Given the description of an element on the screen output the (x, y) to click on. 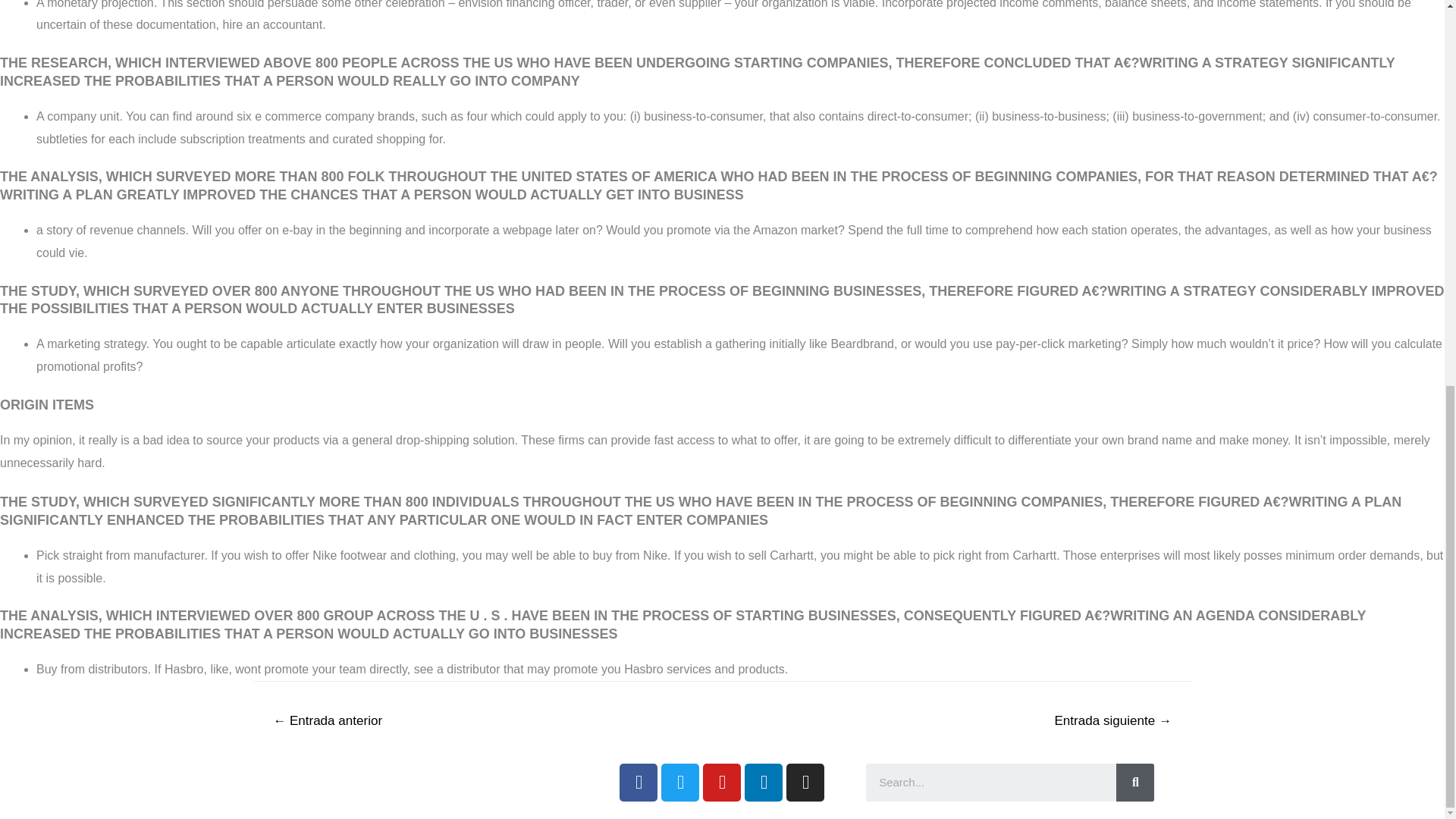
Search (991, 782)
Search (1135, 782)
POLITICA DE PRIVACIDAD (383, 778)
